Given the description of an element on the screen output the (x, y) to click on. 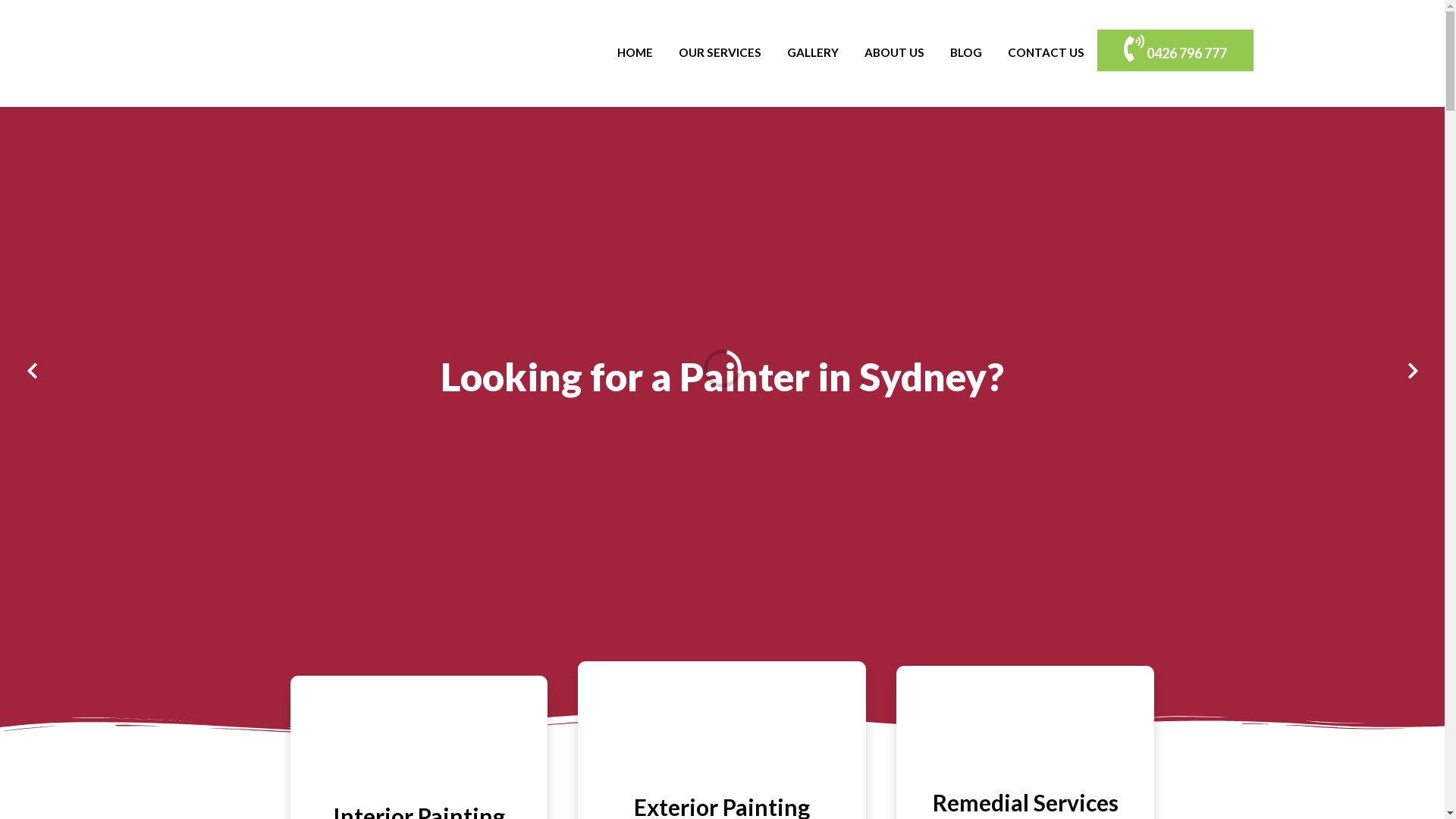
HOME Element type: text (634, 52)
GALLERY Element type: text (811, 52)
Contemporary Paintings Sydney Element type: hover (334, 53)
BLOG Element type: text (965, 52)
Exterior Painting Element type: hover (721, 740)
0426 796 777 Element type: text (1174, 49)
OUR SERVICES Element type: text (719, 52)
CONTACT US Element type: text (1045, 52)
ABOUT US Element type: text (893, 52)
Remedial Services Element type: text (1025, 801)
Interior Painting Element type: hover (418, 750)
Remedial Services Element type: hover (1024, 740)
